Given the description of an element on the screen output the (x, y) to click on. 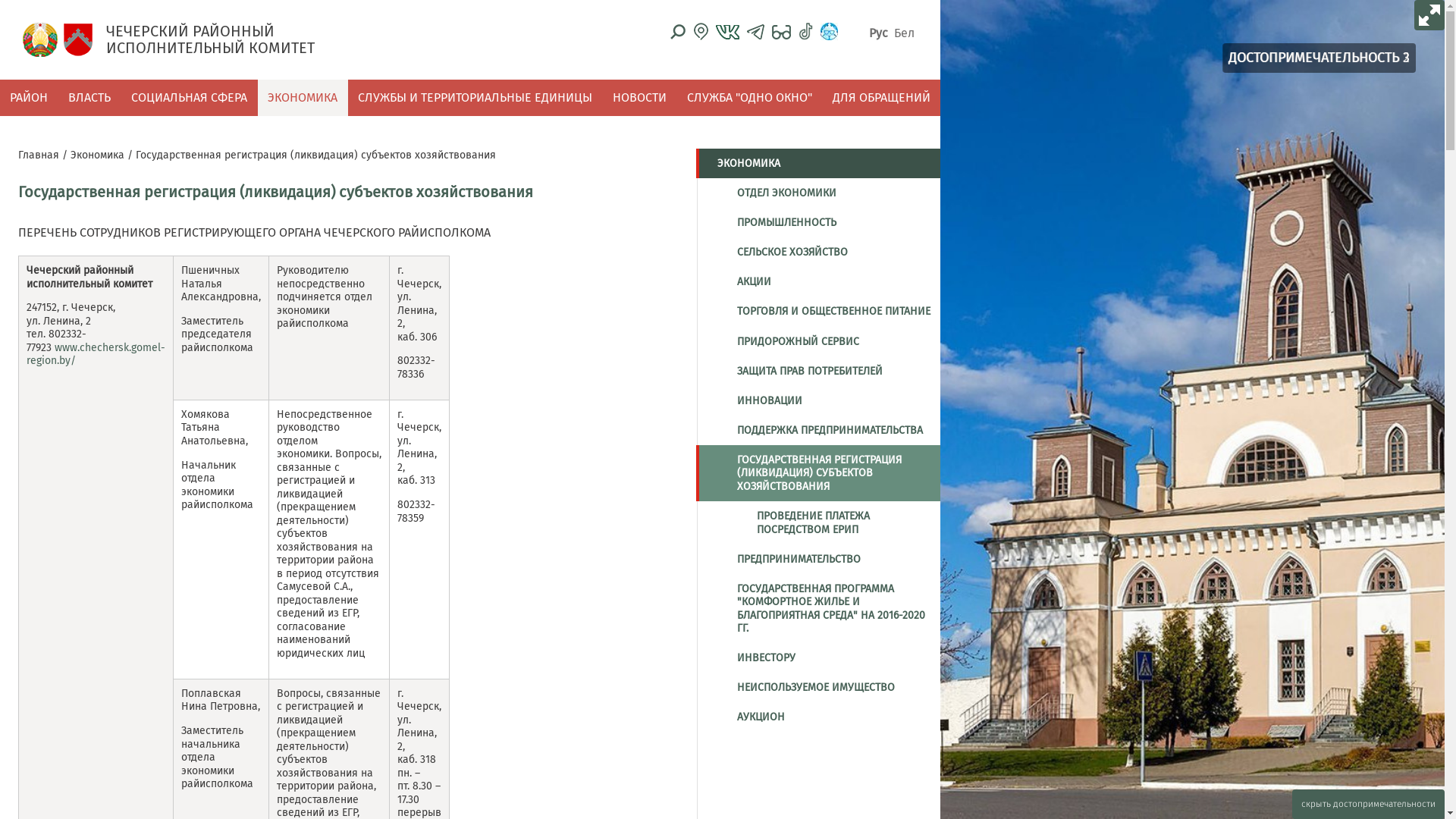
Tiktok Element type: hover (805, 31)
VK Element type: hover (727, 30)
telegram Element type: hover (755, 31)
VK Element type: hover (727, 32)
www.chechersk.gomel-region.by/ Element type: text (95, 354)
telegram Element type: hover (755, 31)
